Given the description of an element on the screen output the (x, y) to click on. 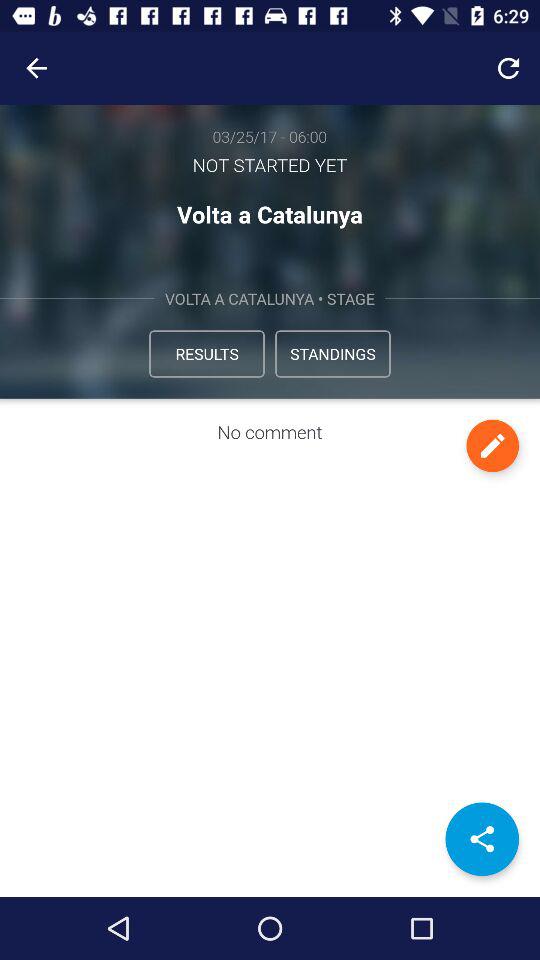
turn on the icon at the top left corner (36, 68)
